Given the description of an element on the screen output the (x, y) to click on. 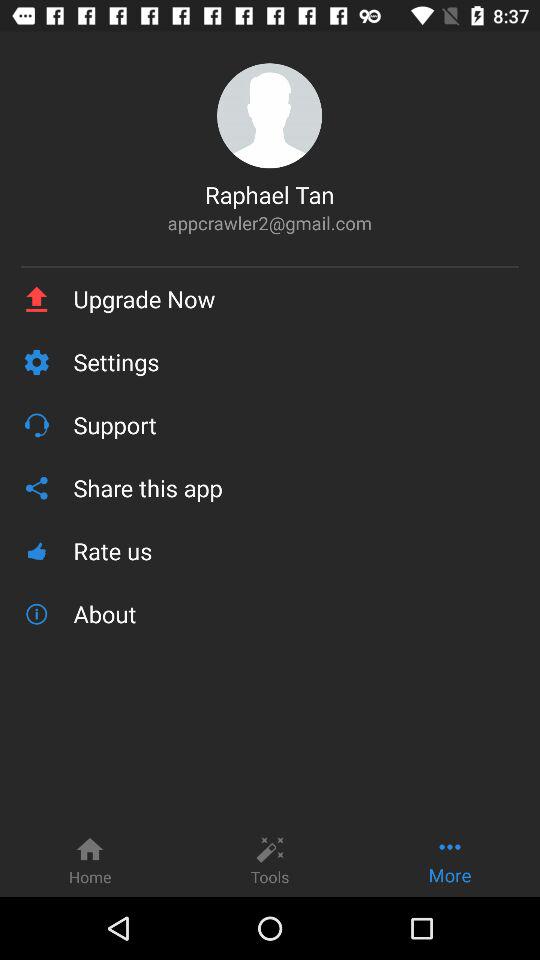
choose icon above raphael tan item (269, 115)
